Given the description of an element on the screen output the (x, y) to click on. 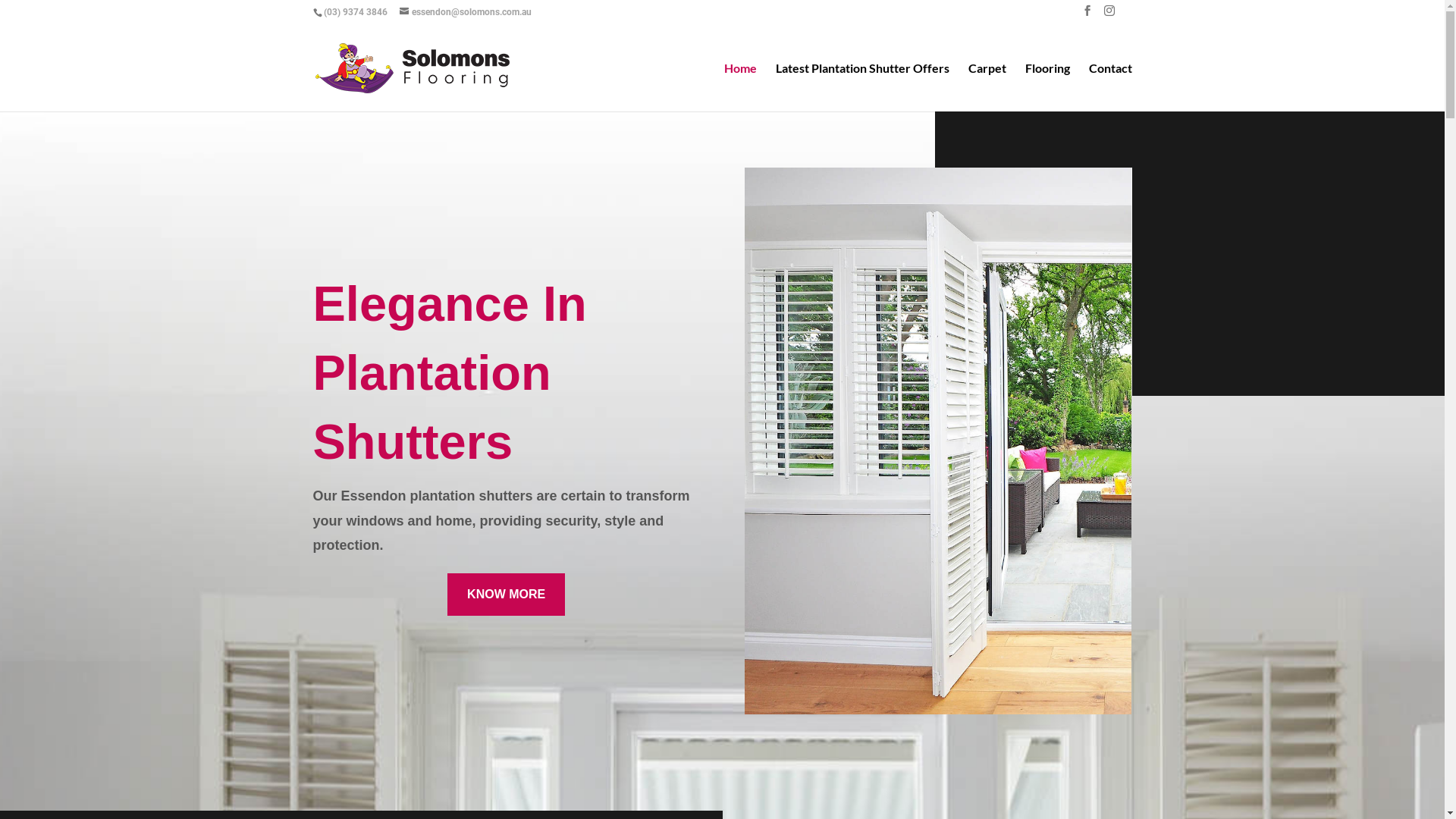
Contact Element type: text (1110, 86)
Home Element type: text (739, 86)
(03) 9374 3846 Element type: text (354, 11)
KNOW MORE Element type: text (505, 594)
Carpet Element type: text (986, 86)
essendon@solomons.com.au Element type: text (464, 11)
Latest Plantation Shutter Offers Element type: text (861, 86)
Essendon Plantation Shutters Element type: hover (937, 440)
Flooring Element type: text (1047, 86)
